Given the description of an element on the screen output the (x, y) to click on. 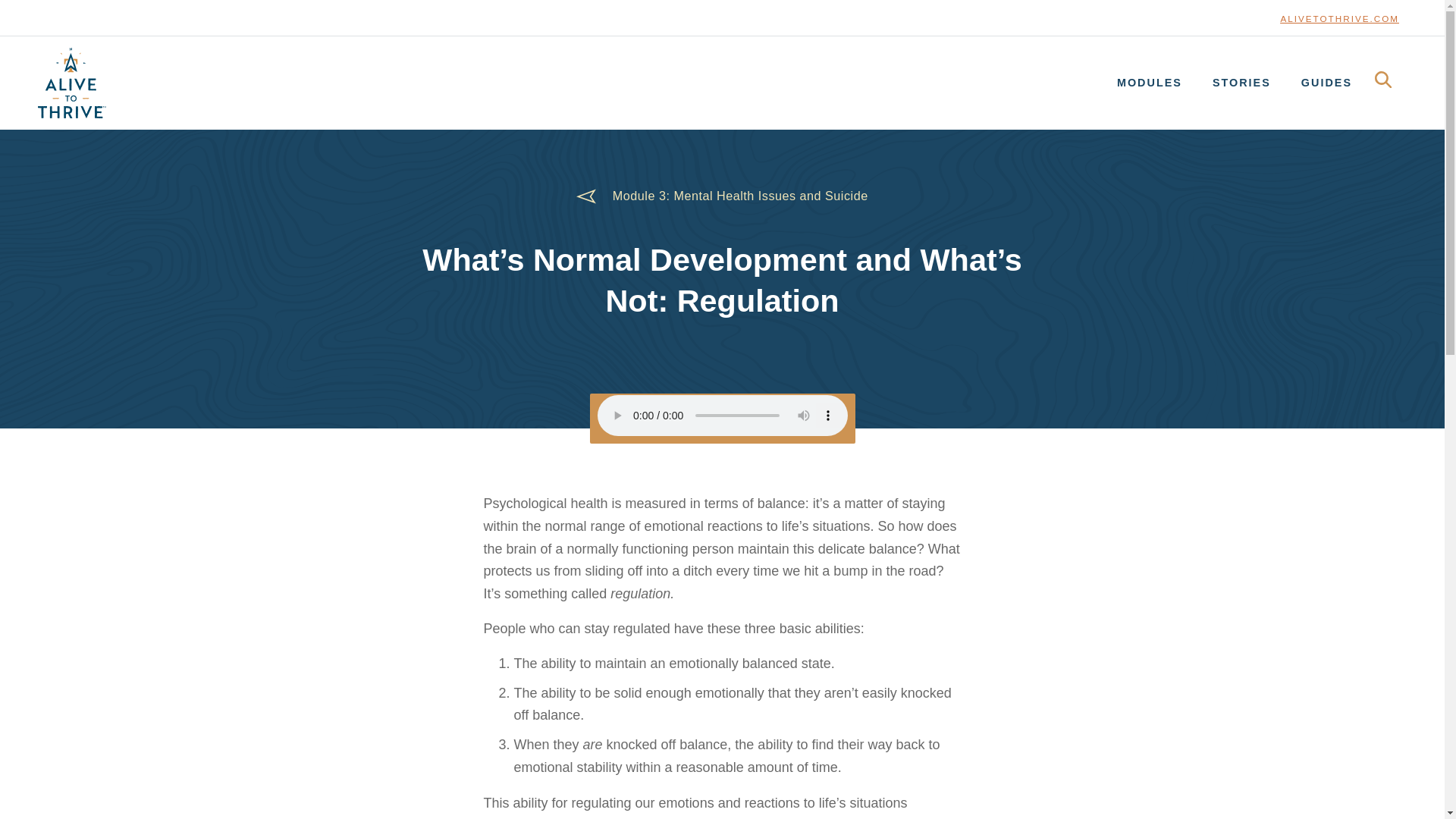
STORIES (1240, 82)
ALIVETOTHRIVE.COM (1339, 18)
MODULES (1149, 82)
GUIDES (1326, 82)
Module 3: Mental Health Issues and Suicide (739, 195)
